Given the description of an element on the screen output the (x, y) to click on. 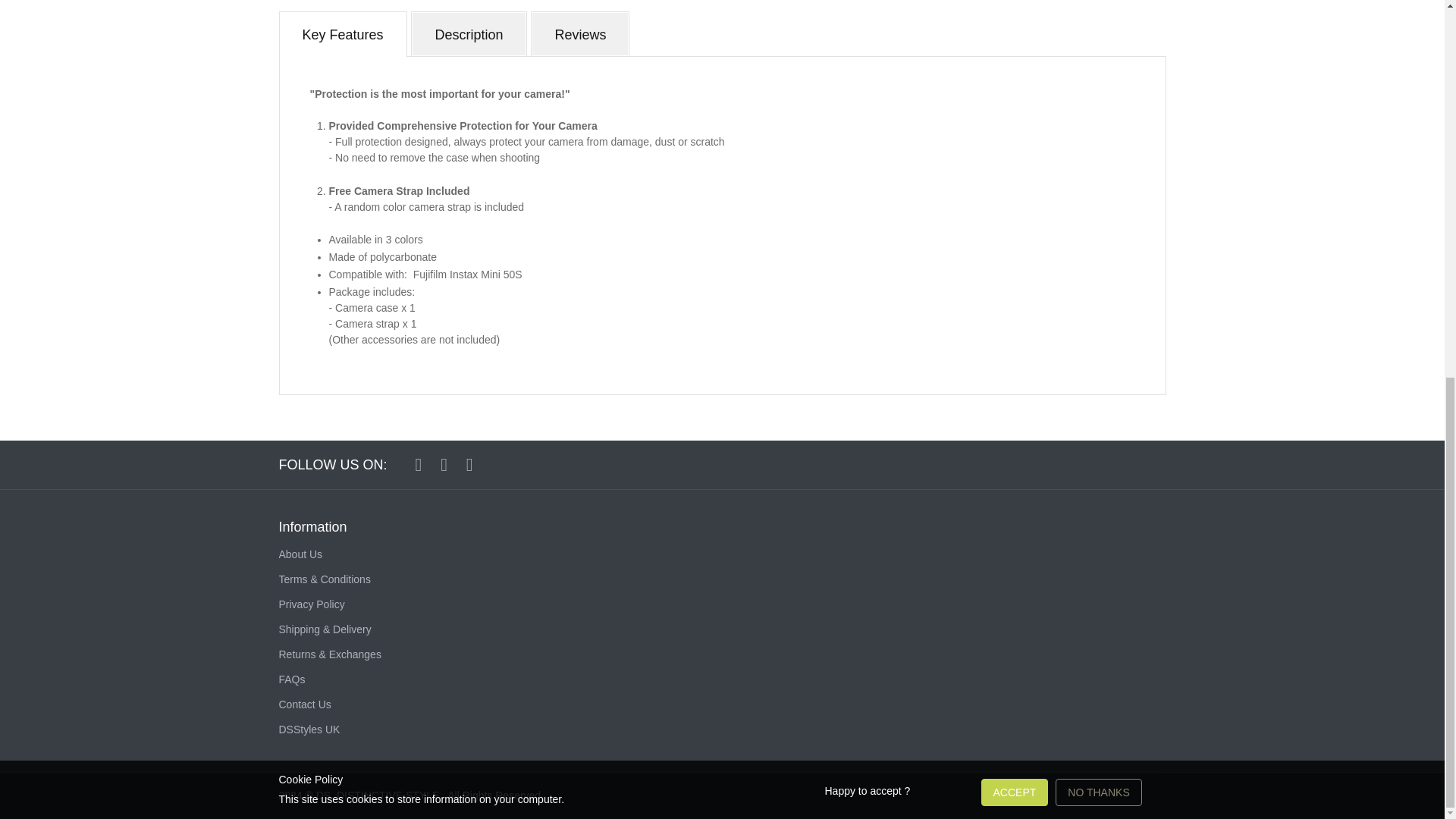
Facebook (419, 464)
Pinterest (470, 464)
Instagram (443, 464)
